Given the description of an element on the screen output the (x, y) to click on. 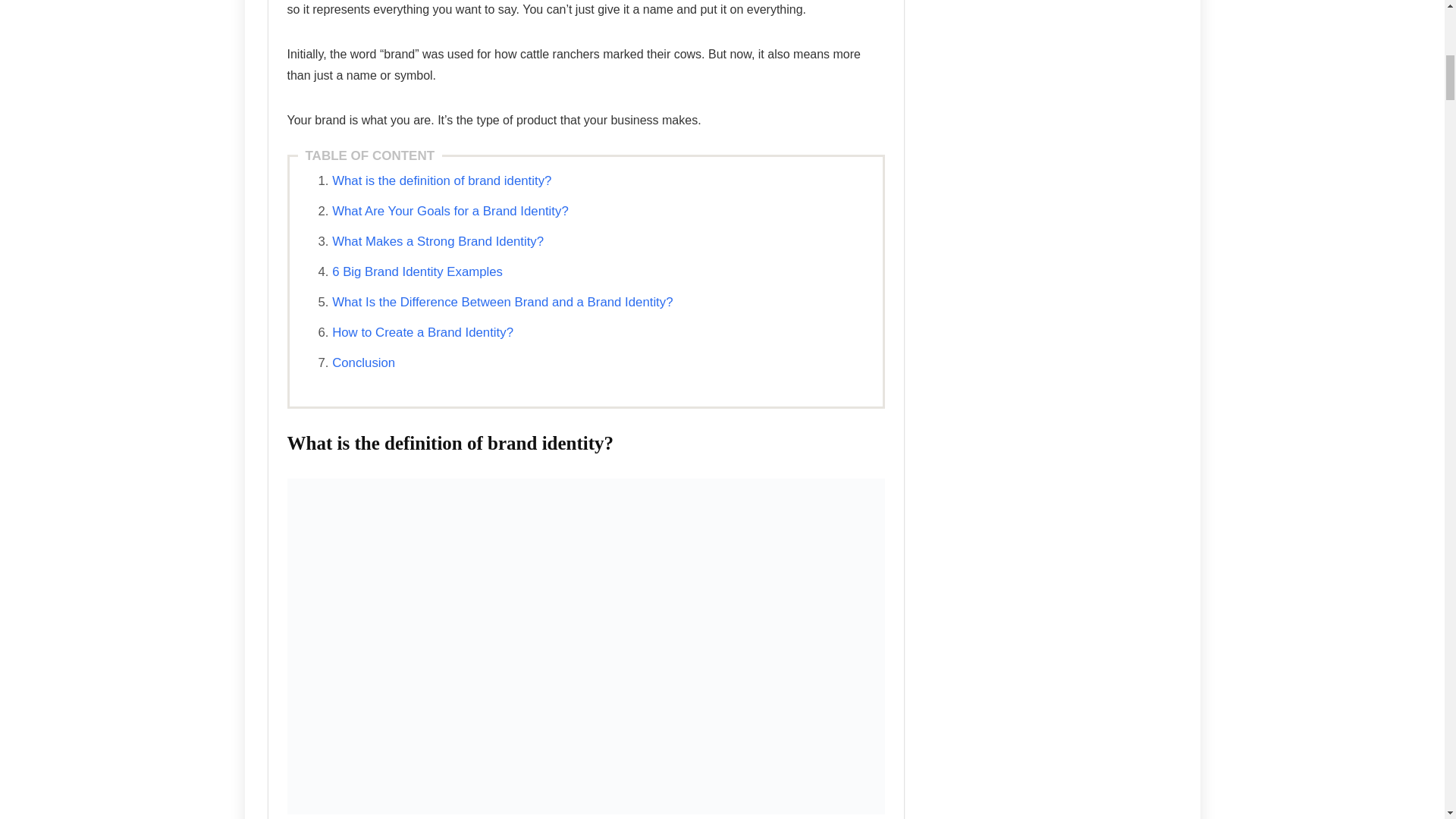
What Makes a Strong Brand Identity? (437, 241)
Conclusion (362, 362)
What Are Your Goals for a Brand Identity? (450, 210)
How to Create a Brand Identity? (422, 332)
6 Big Brand Identity Examples (416, 271)
What is the definition of brand identity? (441, 180)
What Is the Difference Between Brand and a Brand Identity? (501, 301)
